Given the description of an element on the screen output the (x, y) to click on. 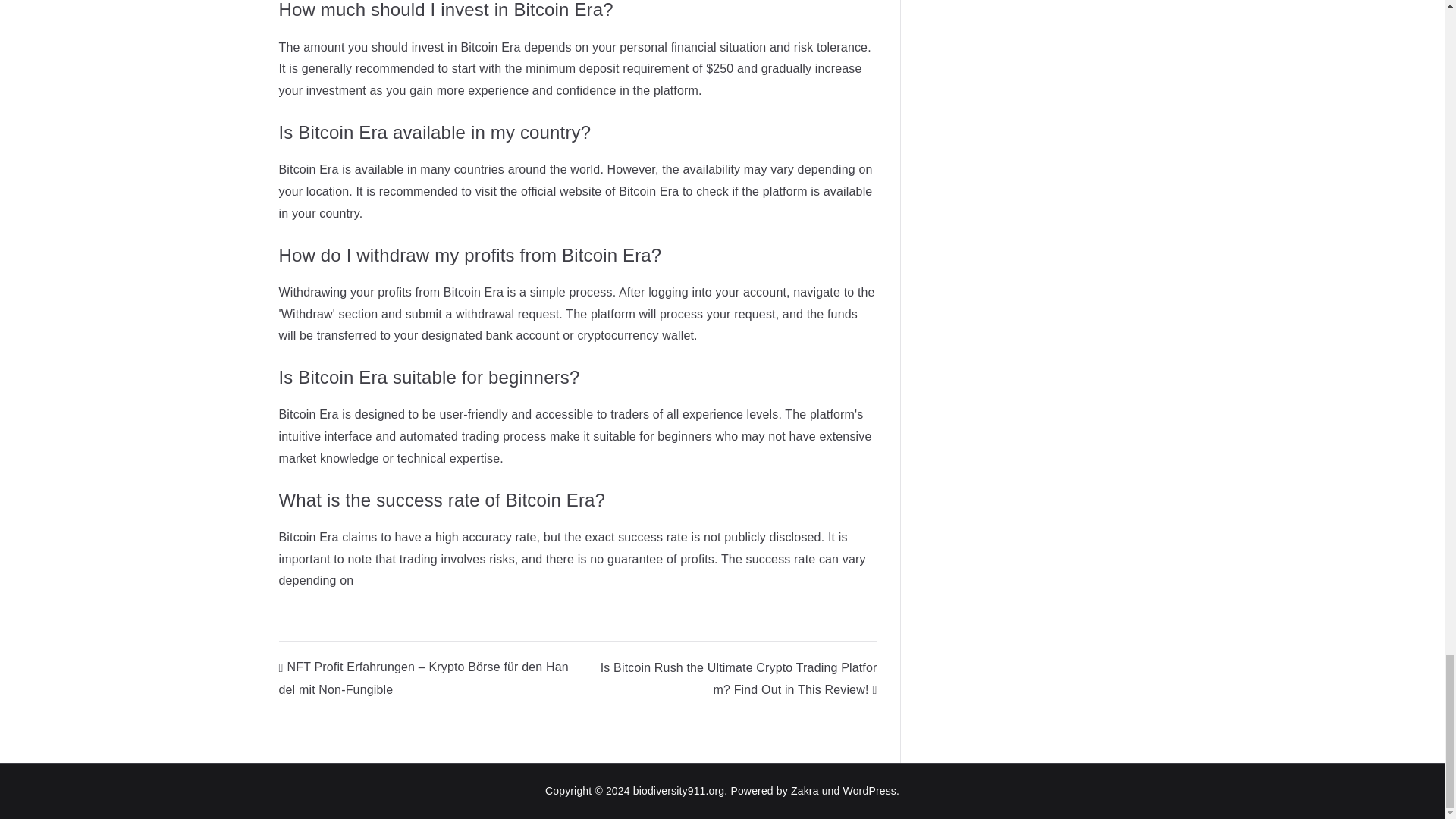
WordPress (869, 790)
Zakra (804, 790)
biodiversity911.org (679, 790)
